Given the description of an element on the screen output the (x, y) to click on. 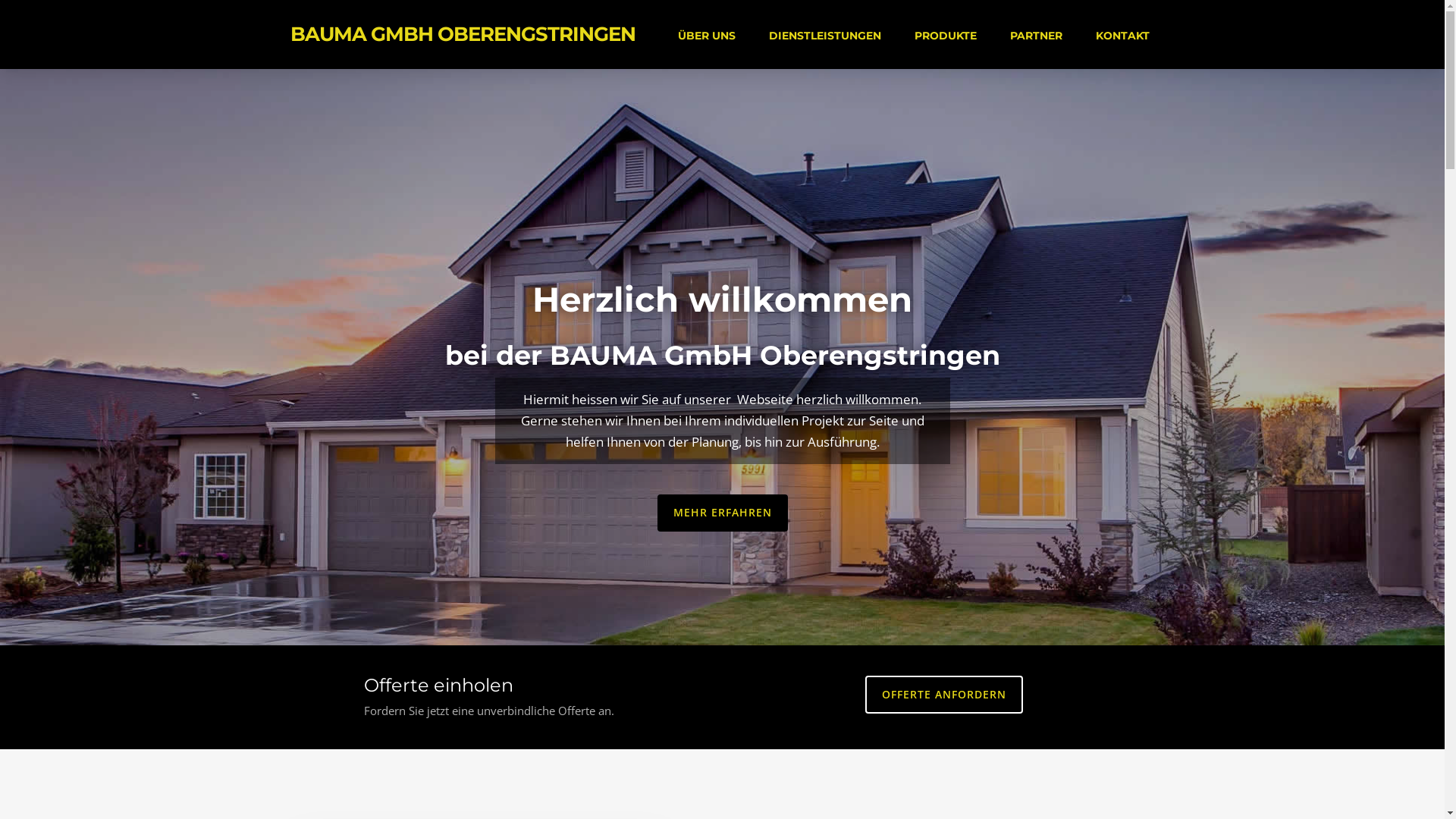
PARTNER Element type: text (1035, 35)
PRODUKTE Element type: text (945, 35)
MEHR ERFAHREN Element type: text (721, 512)
OFFERTE ANFORDERN Element type: text (943, 694)
BAUMA GMBH OBERENGSTRINGEN Element type: text (462, 34)
DIENSTLEISTUNGEN Element type: text (824, 35)
KONTAKT Element type: text (1121, 35)
